Given the description of an element on the screen output the (x, y) to click on. 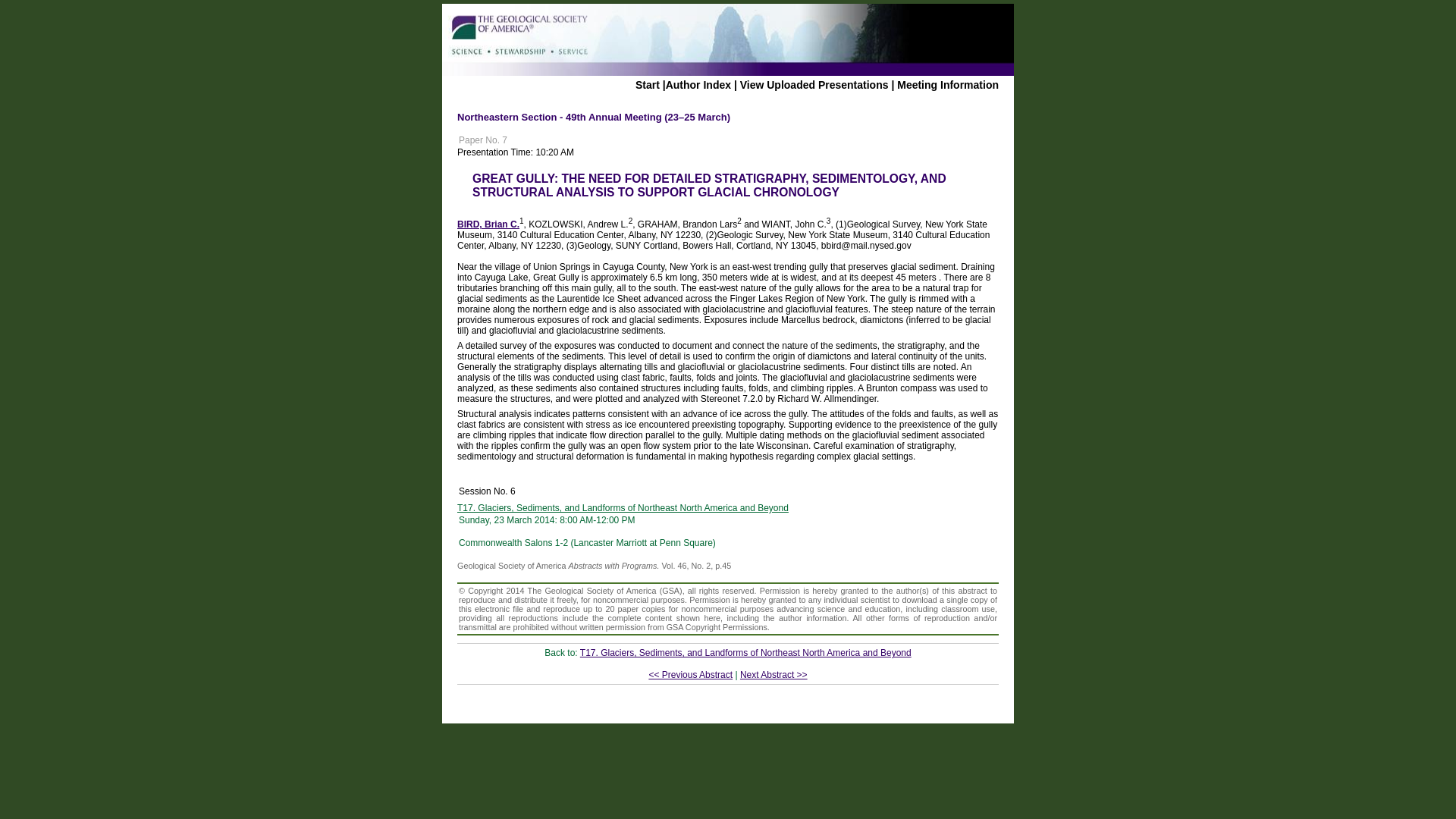
View Uploaded Presentations (813, 84)
BIRD, Brian C. (488, 224)
Start (646, 84)
Meeting Information (947, 84)
Author Index (697, 84)
